Given the description of an element on the screen output the (x, y) to click on. 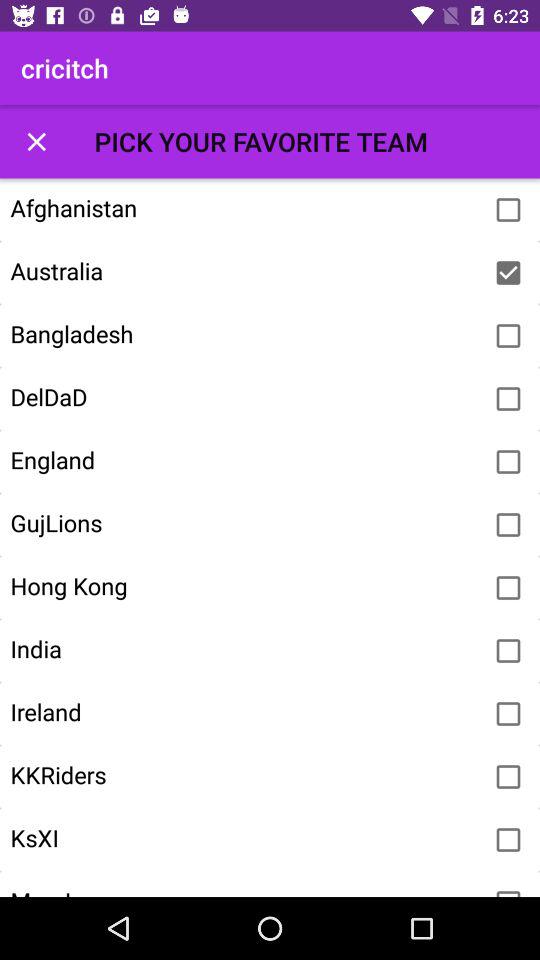
check off item (508, 273)
